Given the description of an element on the screen output the (x, y) to click on. 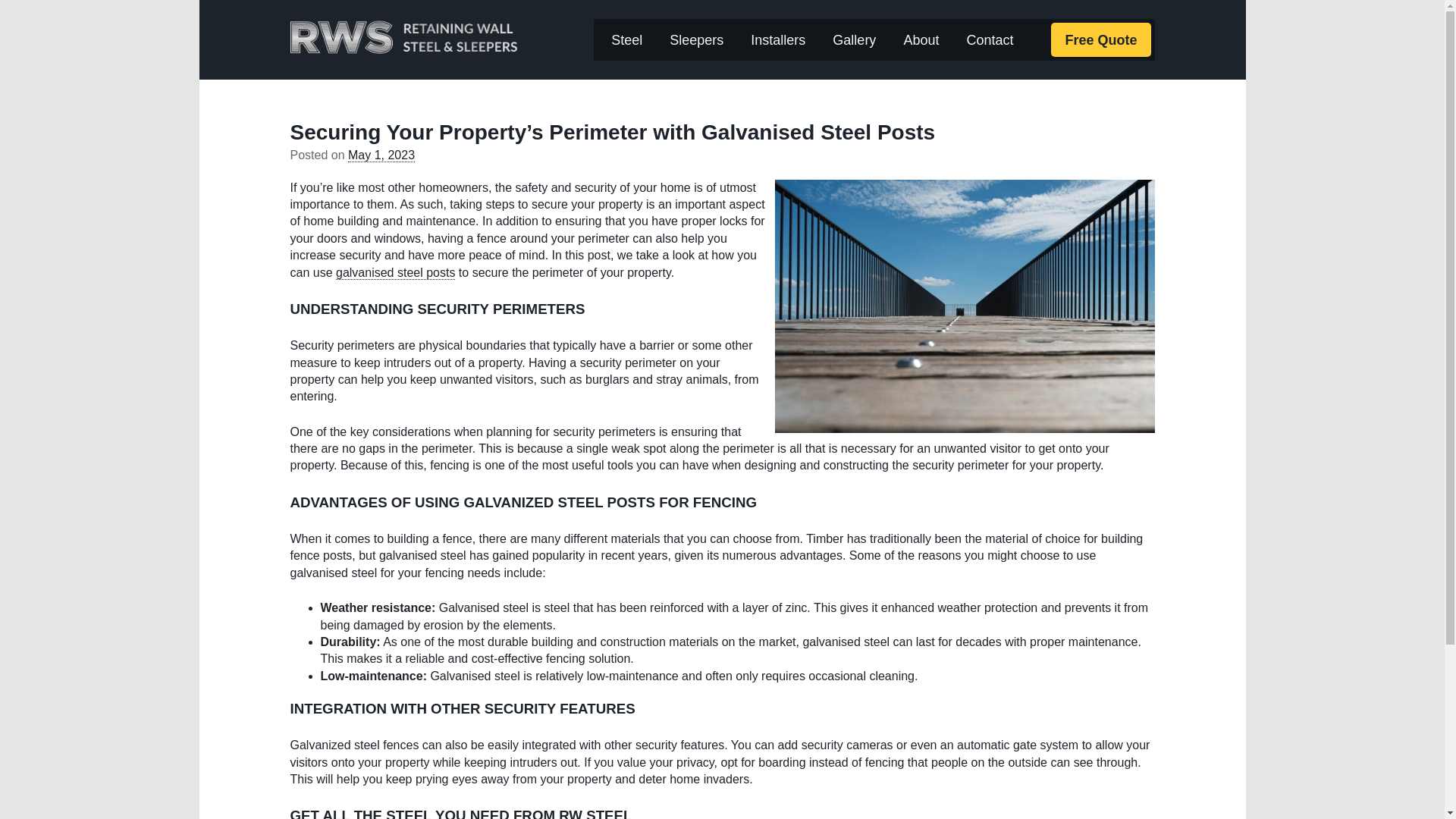
About (920, 39)
Installers (777, 39)
galvanised steel posts (395, 273)
Sleepers (696, 39)
Contact (989, 39)
Free Quote (1100, 39)
RWSteel (402, 36)
7:44 am (380, 155)
RWSteel (402, 36)
May 1, 2023 (380, 155)
Gallery (853, 39)
Steel (626, 39)
